Given the description of an element on the screen output the (x, y) to click on. 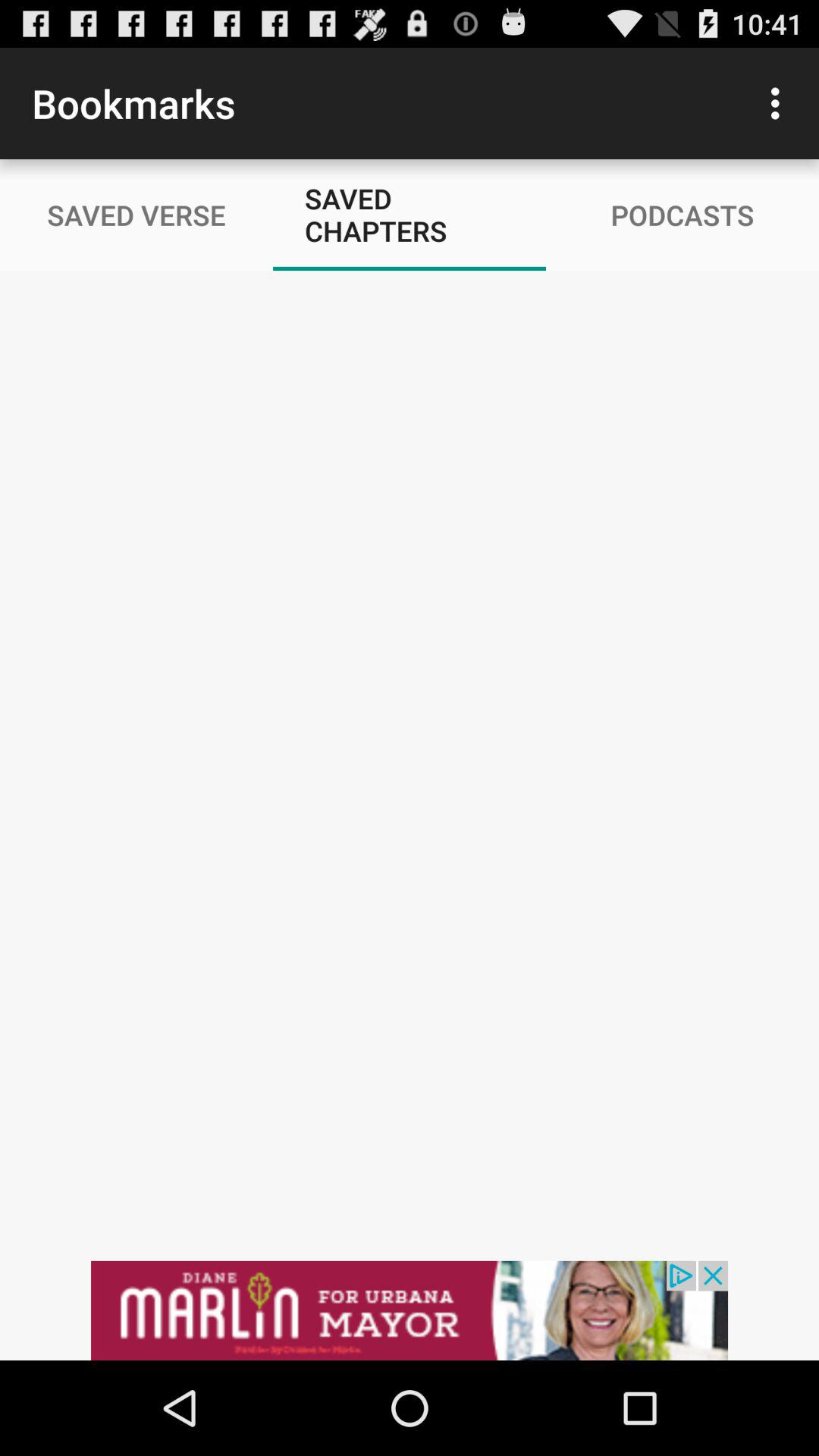
view the adversitement (409, 1310)
